Given the description of an element on the screen output the (x, y) to click on. 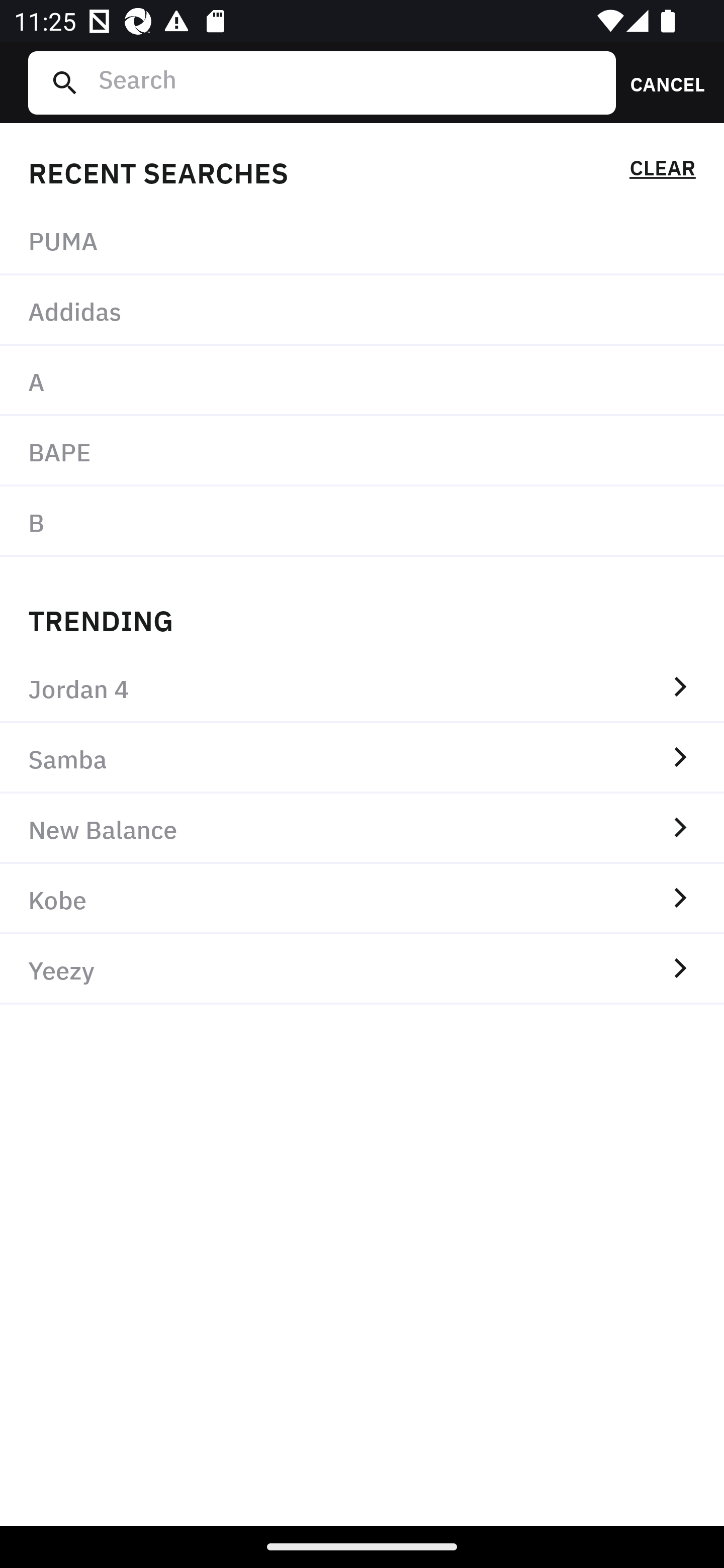
CANCEL (660, 82)
Search (349, 82)
CLEAR (662, 170)
PUMA (362, 240)
Addidas (362, 310)
A (362, 380)
BAPE (362, 450)
B (362, 521)
Jordan 4  (362, 687)
Samba  (362, 757)
New Balance  (362, 828)
Kobe  (362, 898)
Yeezy  (362, 969)
